Given the description of an element on the screen output the (x, y) to click on. 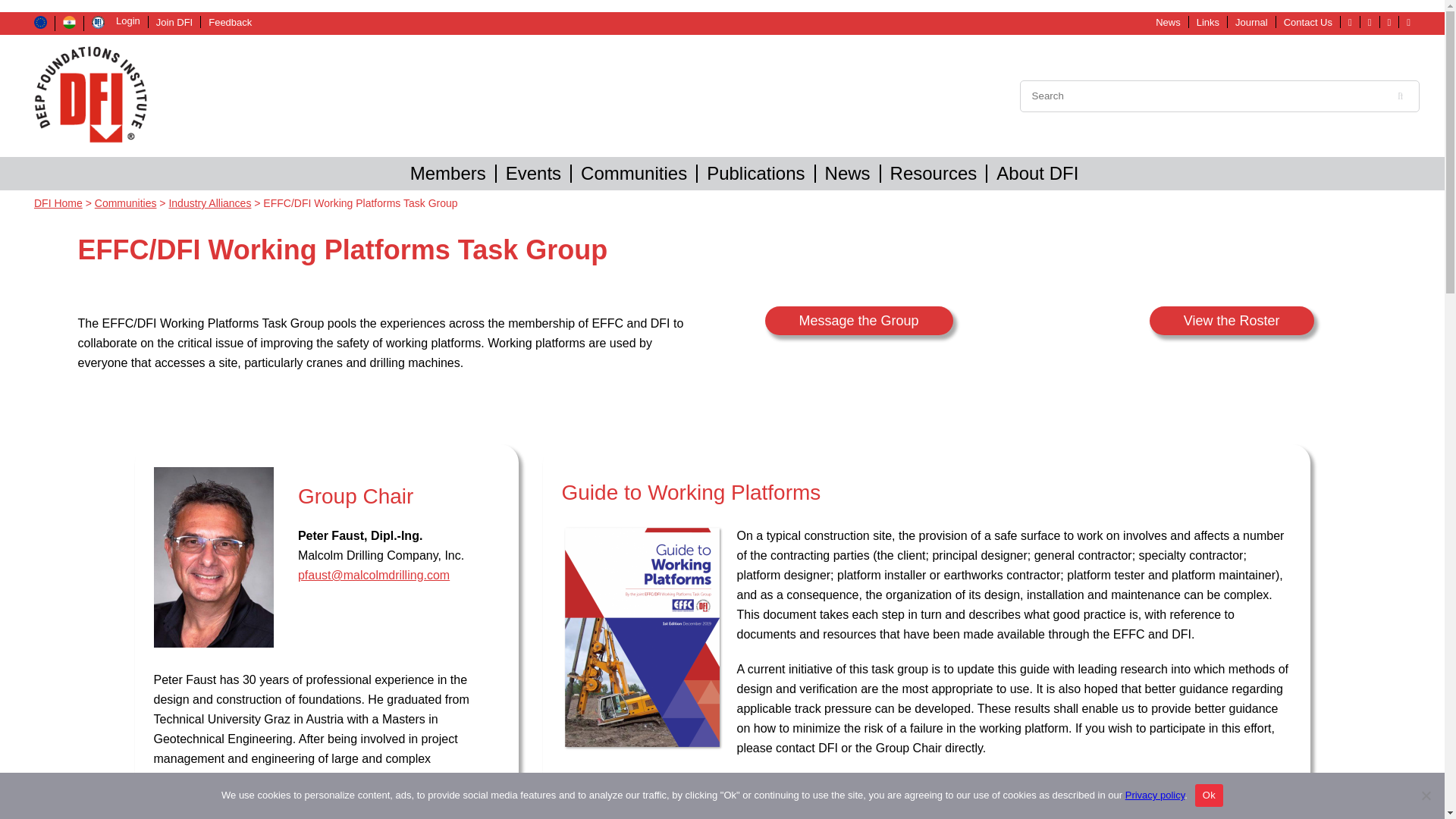
Go to Industry Alliances. (209, 203)
No (1425, 795)
Go to DFI. (57, 203)
Go to Communities. (125, 203)
